Given the description of an element on the screen output the (x, y) to click on. 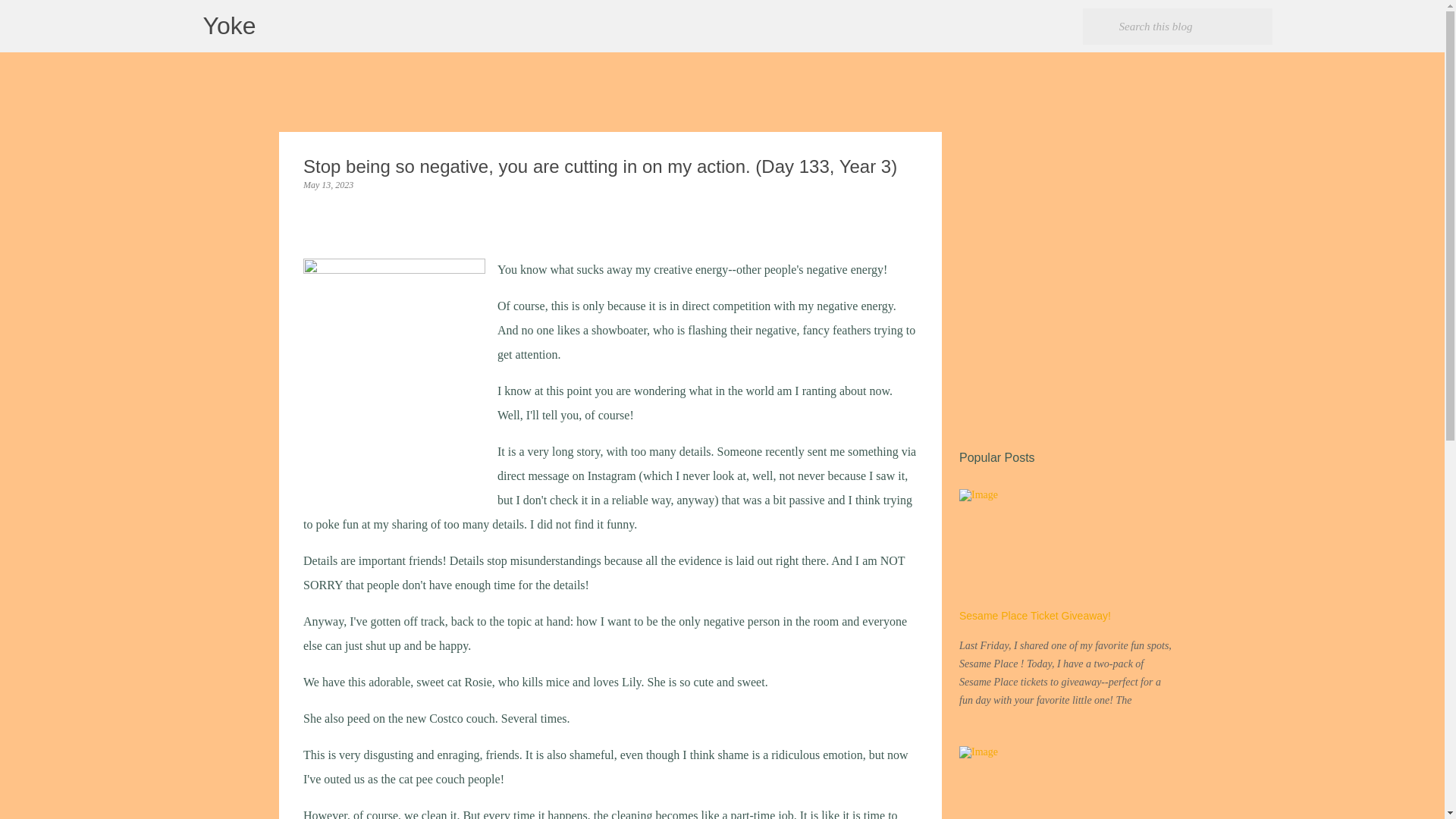
permanent link (327, 184)
Sesame Place Ticket Giveaway! (1034, 615)
May 13, 2023 (327, 184)
Yoke (229, 25)
